Given the description of an element on the screen output the (x, y) to click on. 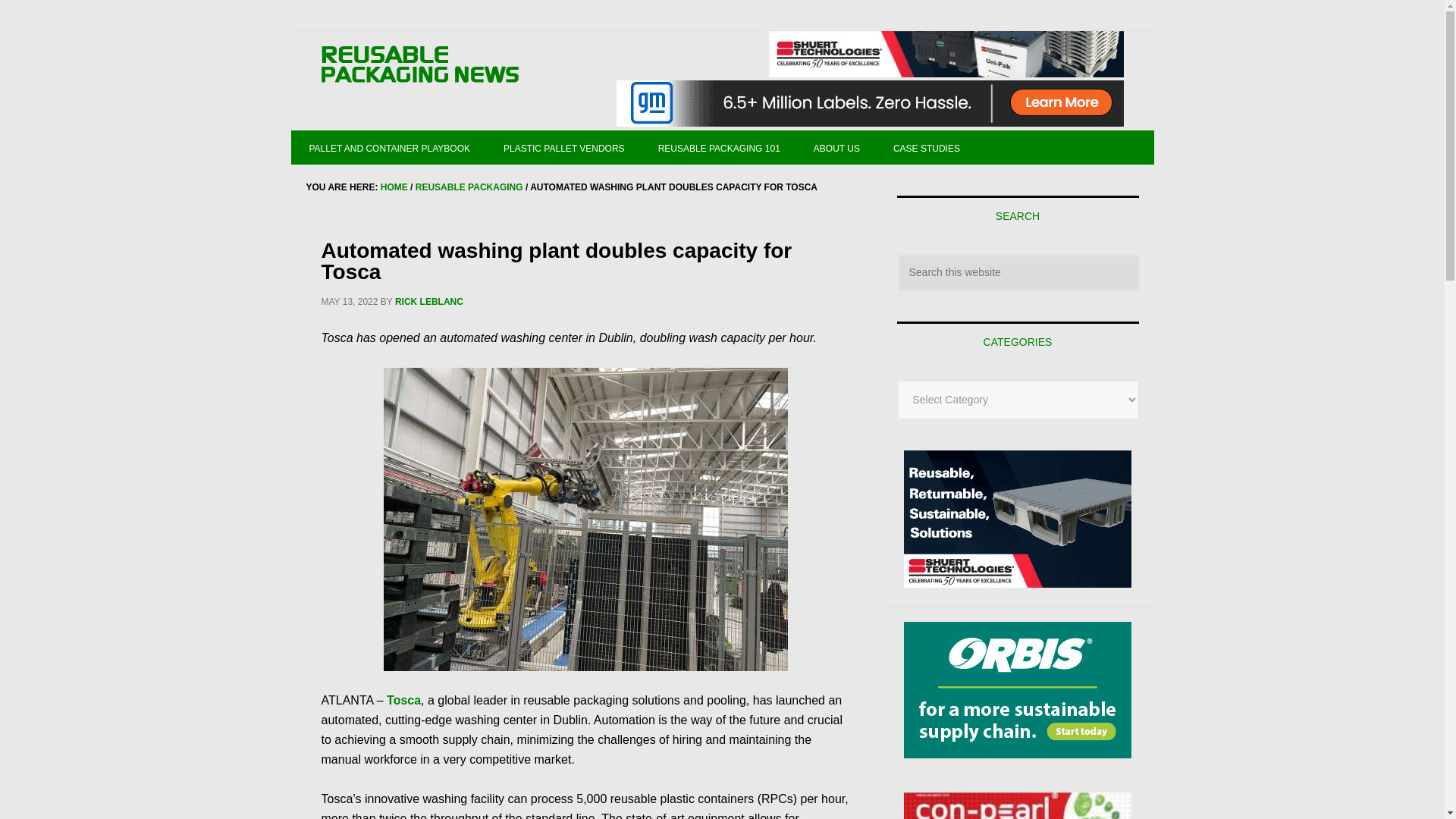
PALLET AND CONTAINER PLAYBOOK (390, 147)
Automated washing plant doubles capacity for Tosca 1 (585, 518)
RICK LEBLANC (428, 301)
Orbis (1017, 689)
CONPearl (1017, 805)
CASE STUDIES (926, 147)
REUSABLE PACKAGING NEWS (419, 65)
Shuert (1017, 519)
Tosca (403, 699)
Shuert Industries (946, 53)
